Given the description of an element on the screen output the (x, y) to click on. 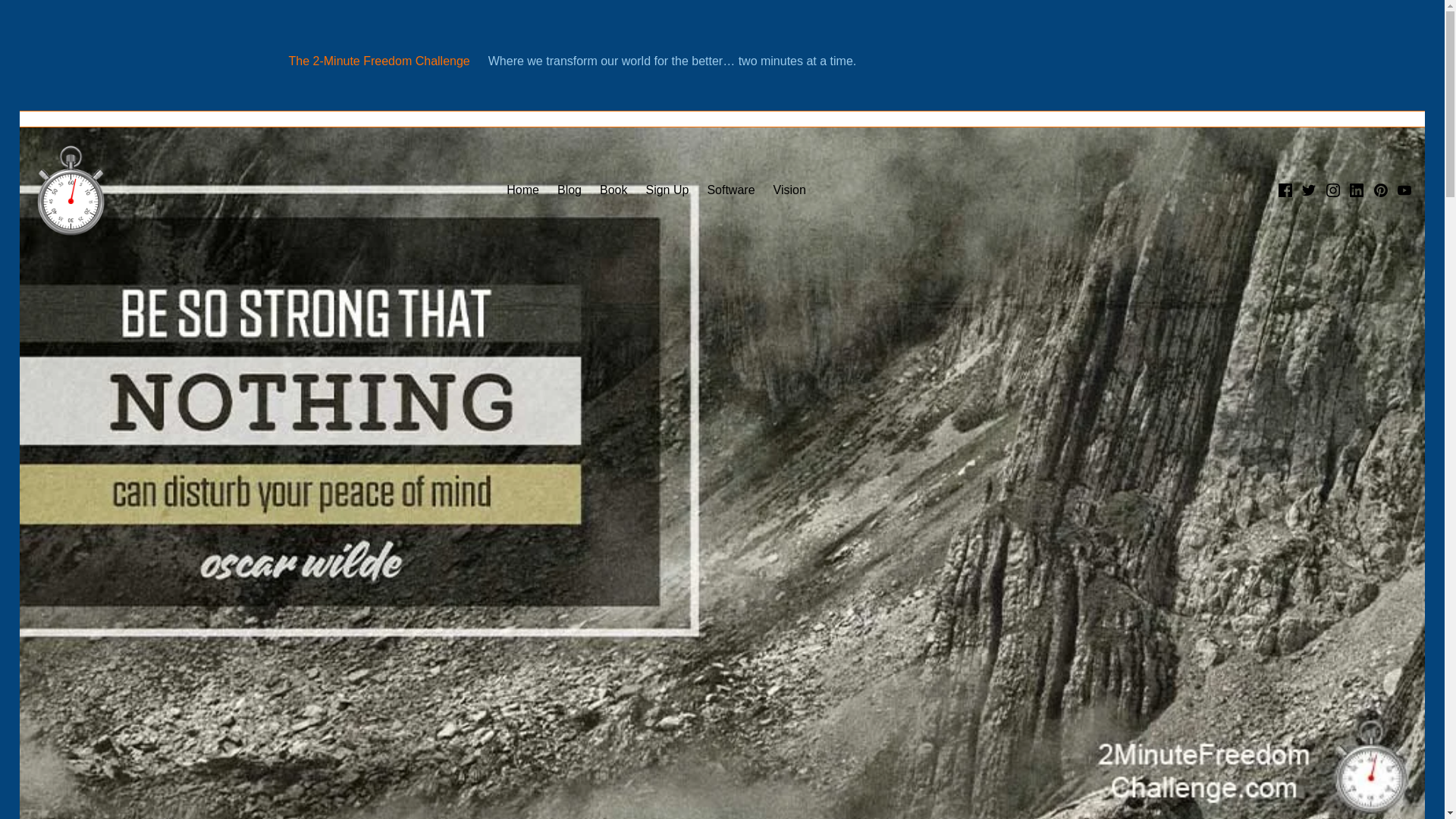
Twitter (1308, 190)
Blog (568, 189)
Sign Up (666, 189)
Home (522, 189)
Book (613, 189)
LinkedIn (1355, 190)
Pinterest icon (1380, 190)
Instagram icon (1332, 190)
LinkedIn icon (1355, 190)
Facebook (1285, 190)
Youtube (1403, 190)
Facebook icon (1285, 190)
Instagram (1332, 190)
Vision (789, 189)
Pinterest (1380, 190)
